Given the description of an element on the screen output the (x, y) to click on. 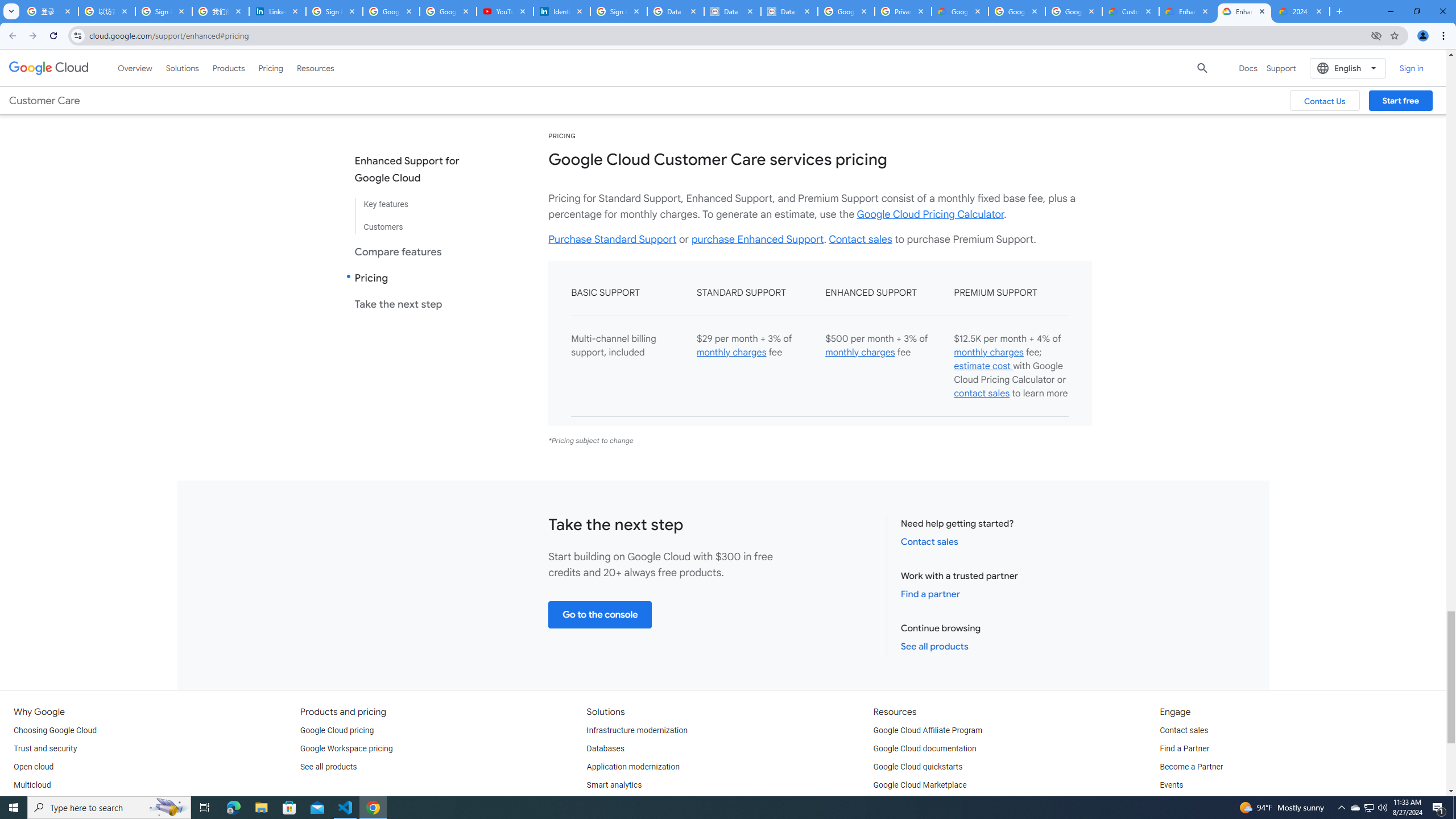
Docs (1248, 67)
Google Workspace pricing (346, 748)
Smart analytics (614, 784)
Key features (416, 204)
Google Cloud pricing (336, 730)
Products (228, 67)
Google Cloud Terms Directory | Google Cloud (959, 11)
Sign in - Google Accounts (618, 11)
Become a Partner (1190, 766)
Google Cloud quickstarts (917, 766)
monthly charges (988, 352)
Go to the console (600, 614)
Google Workspace - Specific Terms (1015, 11)
estimate cost  (983, 365)
